Given the description of an element on the screen output the (x, y) to click on. 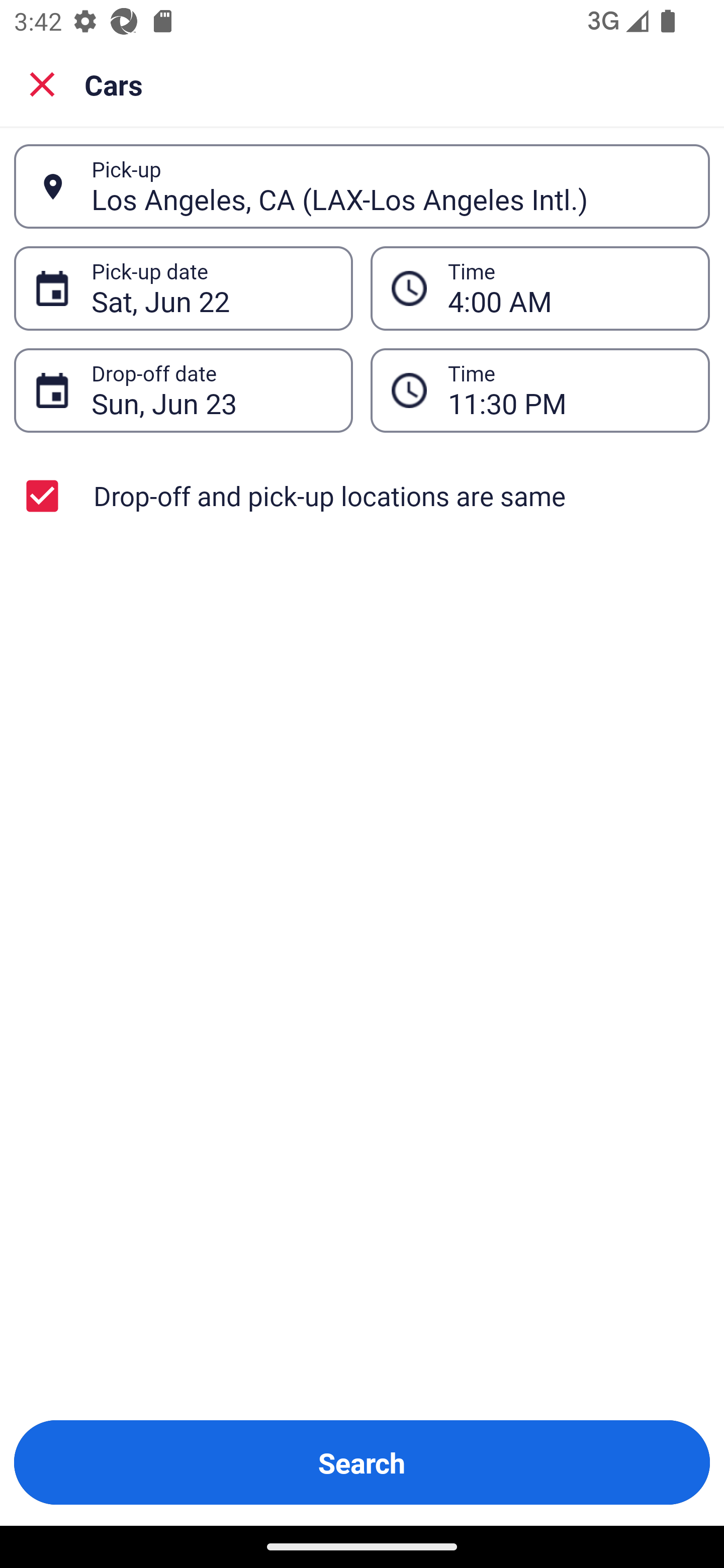
Close search screen (41, 83)
Los Angeles, CA (LAX-Los Angeles Intl.) Pick-up (361, 186)
Los Angeles, CA (LAX-Los Angeles Intl.) (389, 186)
Sat, Jun 22 Pick-up date (183, 288)
4:00 AM (540, 288)
Sat, Jun 22 (211, 288)
4:00 AM (568, 288)
Sun, Jun 23 Drop-off date (183, 390)
11:30 PM (540, 390)
Sun, Jun 23 (211, 390)
11:30 PM (568, 390)
Drop-off and pick-up locations are same (361, 495)
Search Button Search (361, 1462)
